Given the description of an element on the screen output the (x, y) to click on. 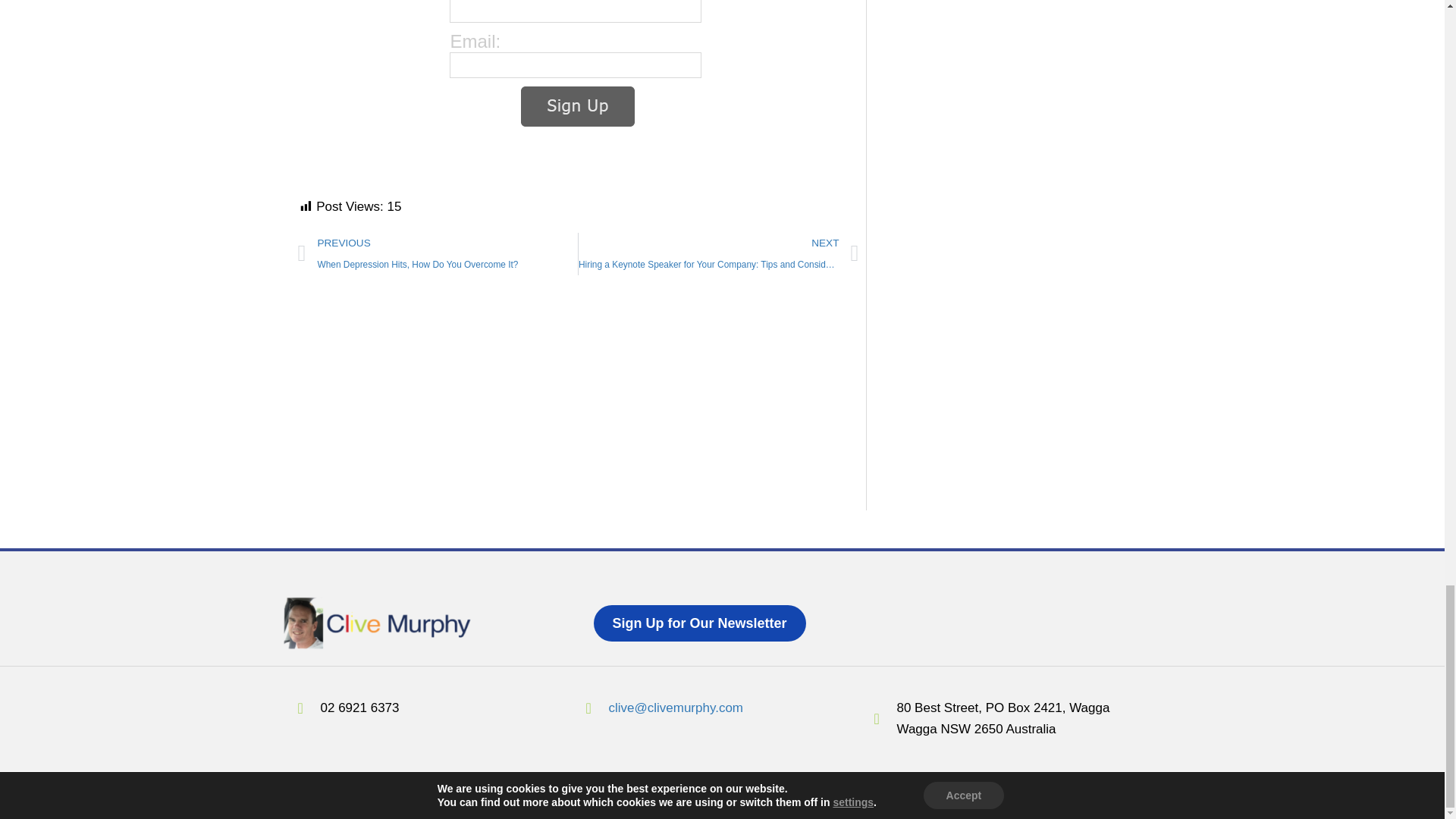
Advertisement (578, 396)
